Given the description of an element on the screen output the (x, y) to click on. 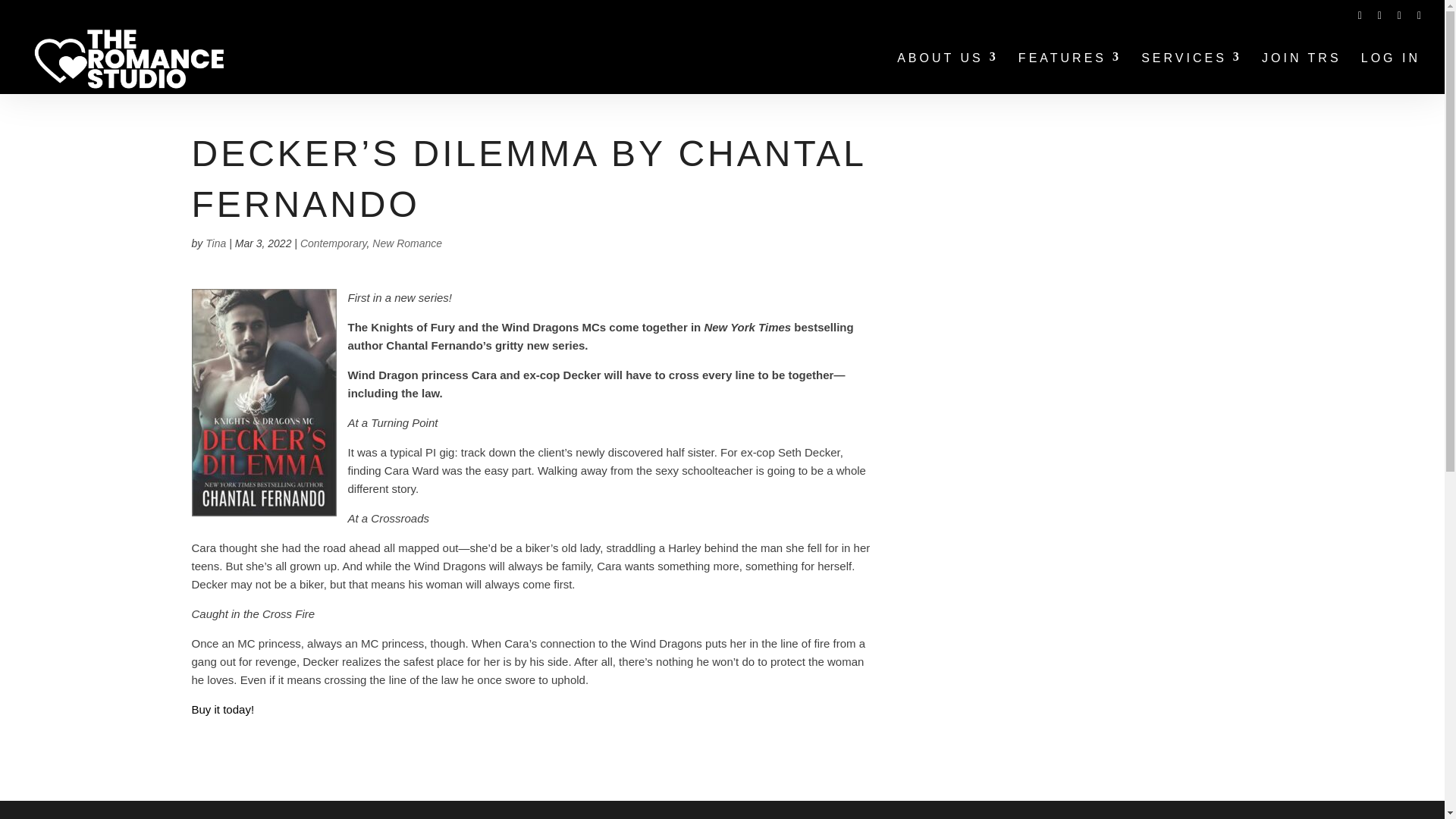
ABOUT US (947, 73)
SERVICES (1191, 73)
Posts by Tina (215, 243)
Contemporary (332, 243)
LOG IN (1391, 73)
New Romance (407, 243)
Tina (215, 243)
FEATURES (1069, 73)
JOIN TRS (1301, 73)
Buy it today! (221, 708)
